Given the description of an element on the screen output the (x, y) to click on. 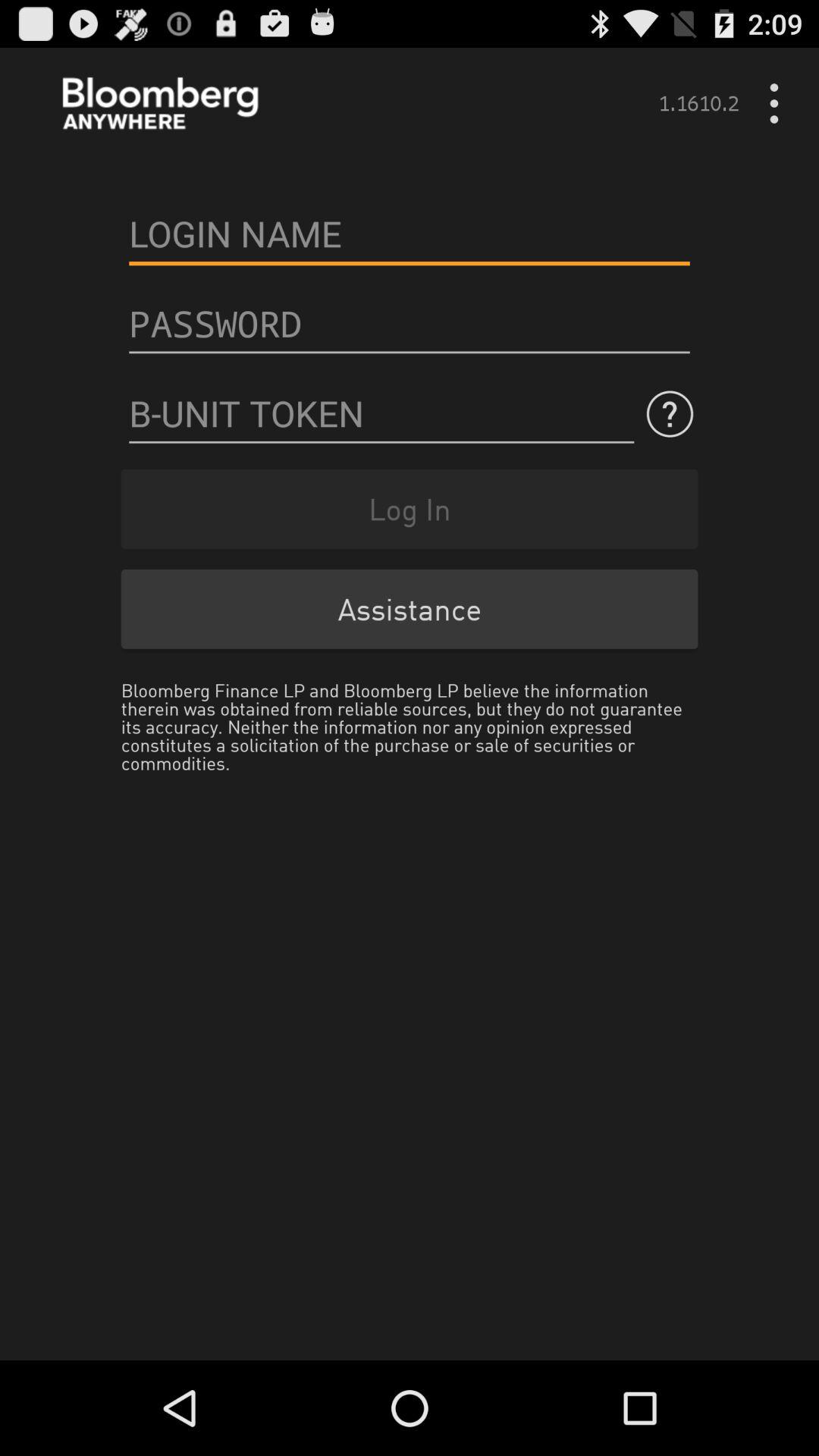
jump until the log in (409, 508)
